Given the description of an element on the screen output the (x, y) to click on. 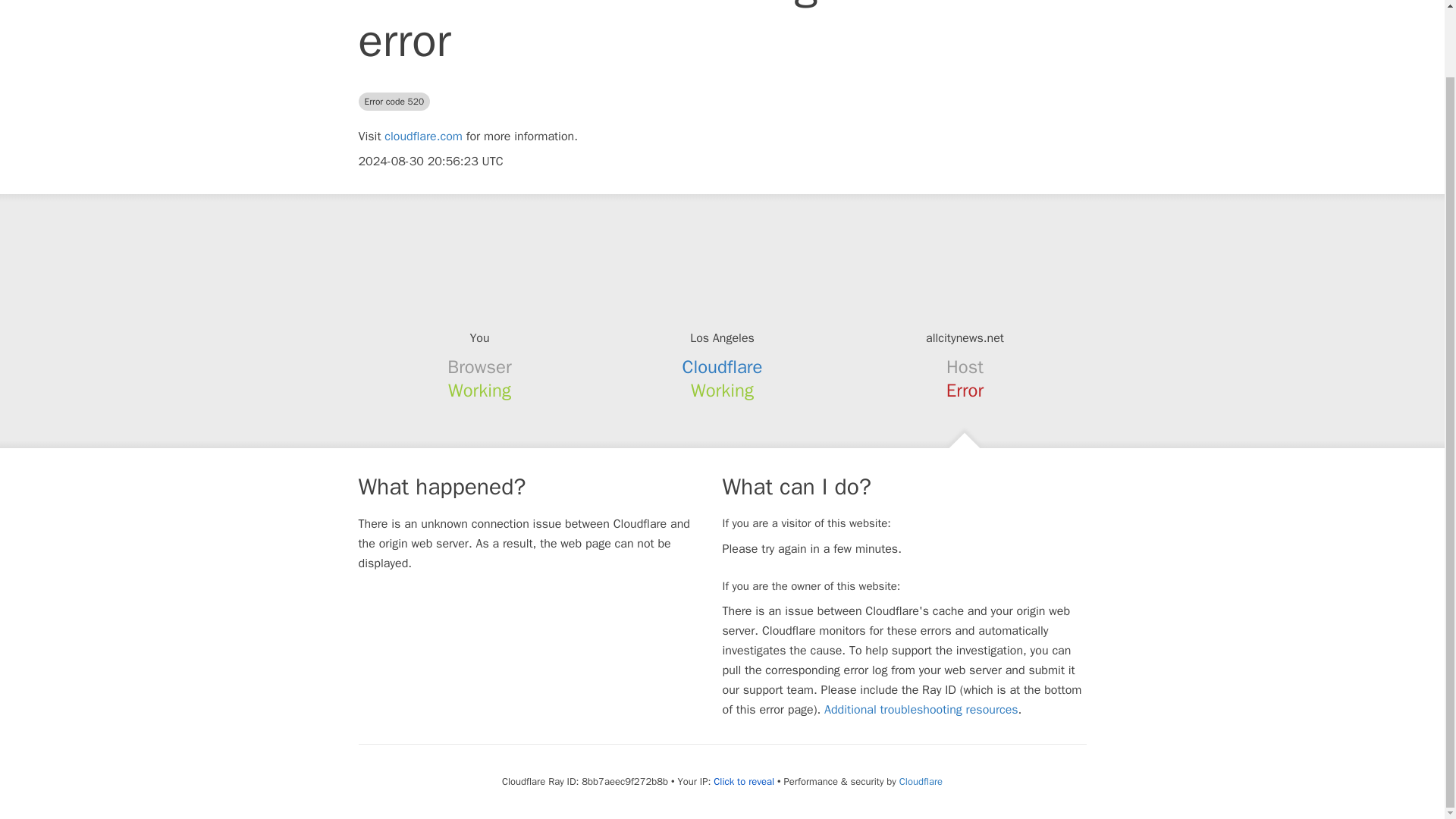
Cloudflare (920, 780)
Additional troubleshooting resources (920, 709)
Cloudflare (722, 366)
cloudflare.com (423, 136)
Click to reveal (743, 781)
